Given the description of an element on the screen output the (x, y) to click on. 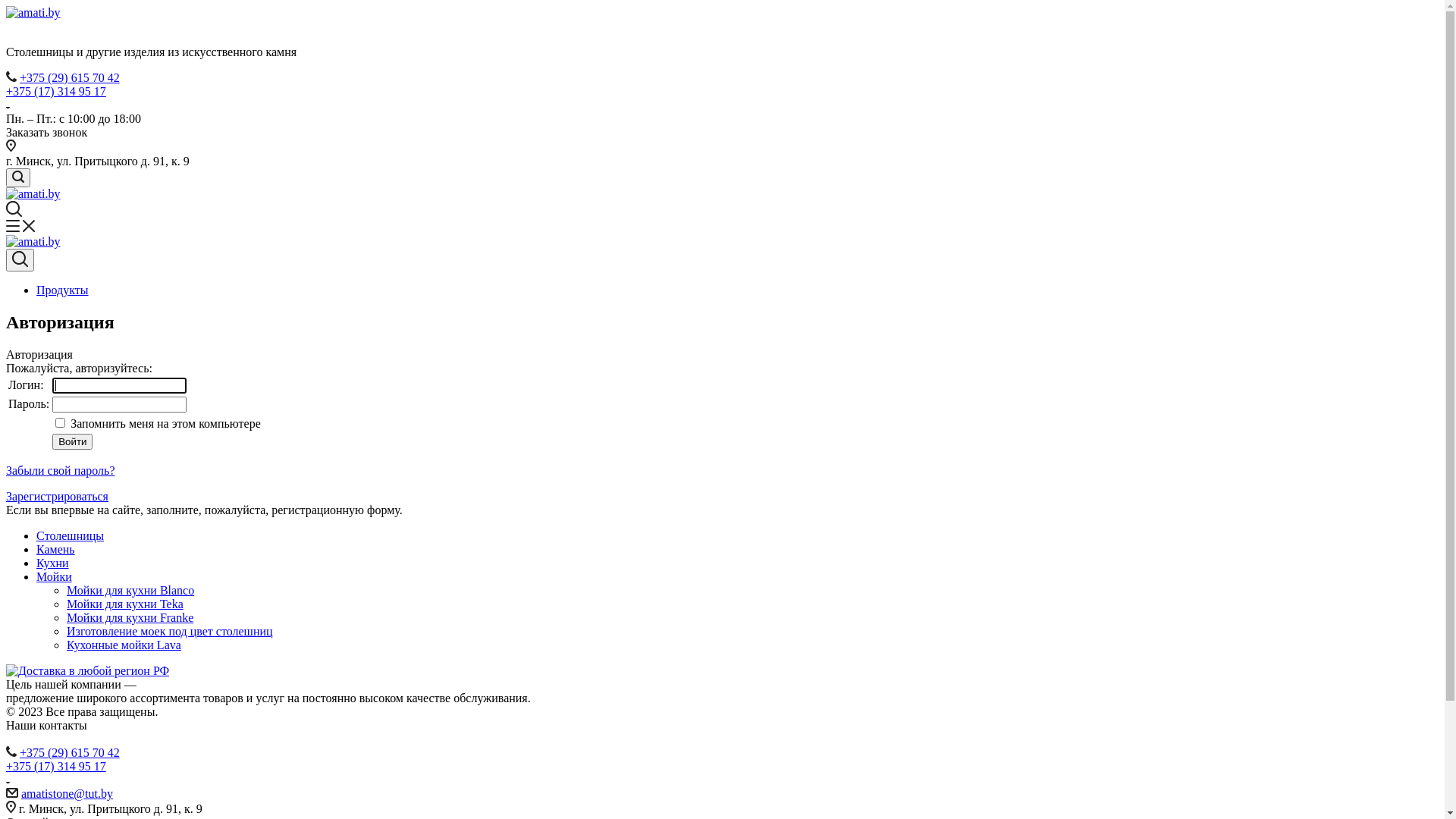
+375 (17) 314 95 17 Element type: text (56, 765)
amati.by Element type: hover (33, 193)
amati.by Element type: hover (33, 12)
+375 (29) 615 70 42 Element type: text (69, 752)
amatistone@tut.by Element type: text (66, 793)
+375 (29) 615 70 42 Element type: text (69, 77)
+375 (17) 314 95 17 Element type: text (56, 90)
amati.by Element type: hover (33, 241)
